Given the description of an element on the screen output the (x, y) to click on. 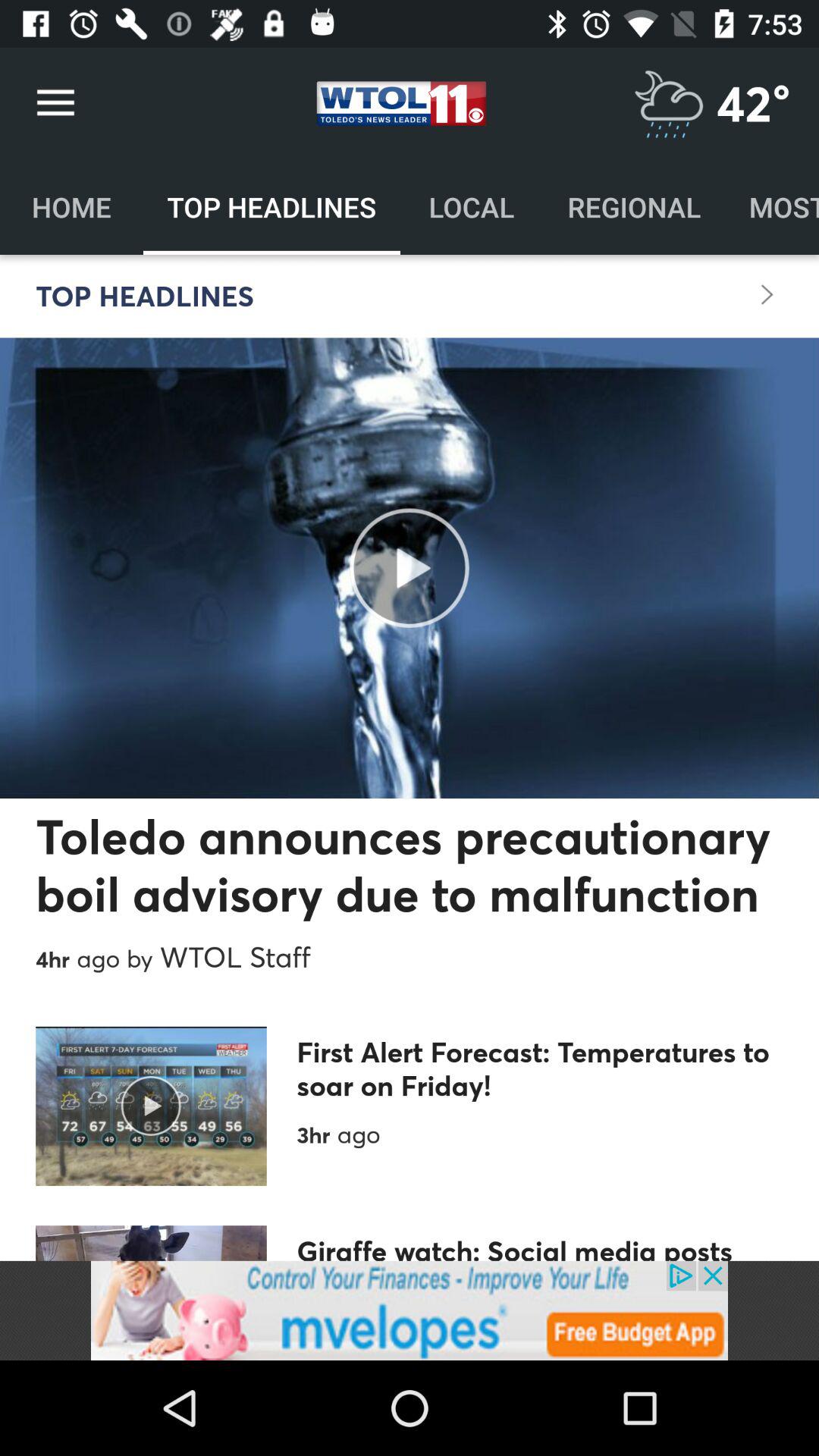
open weather (668, 103)
